Given the description of an element on the screen output the (x, y) to click on. 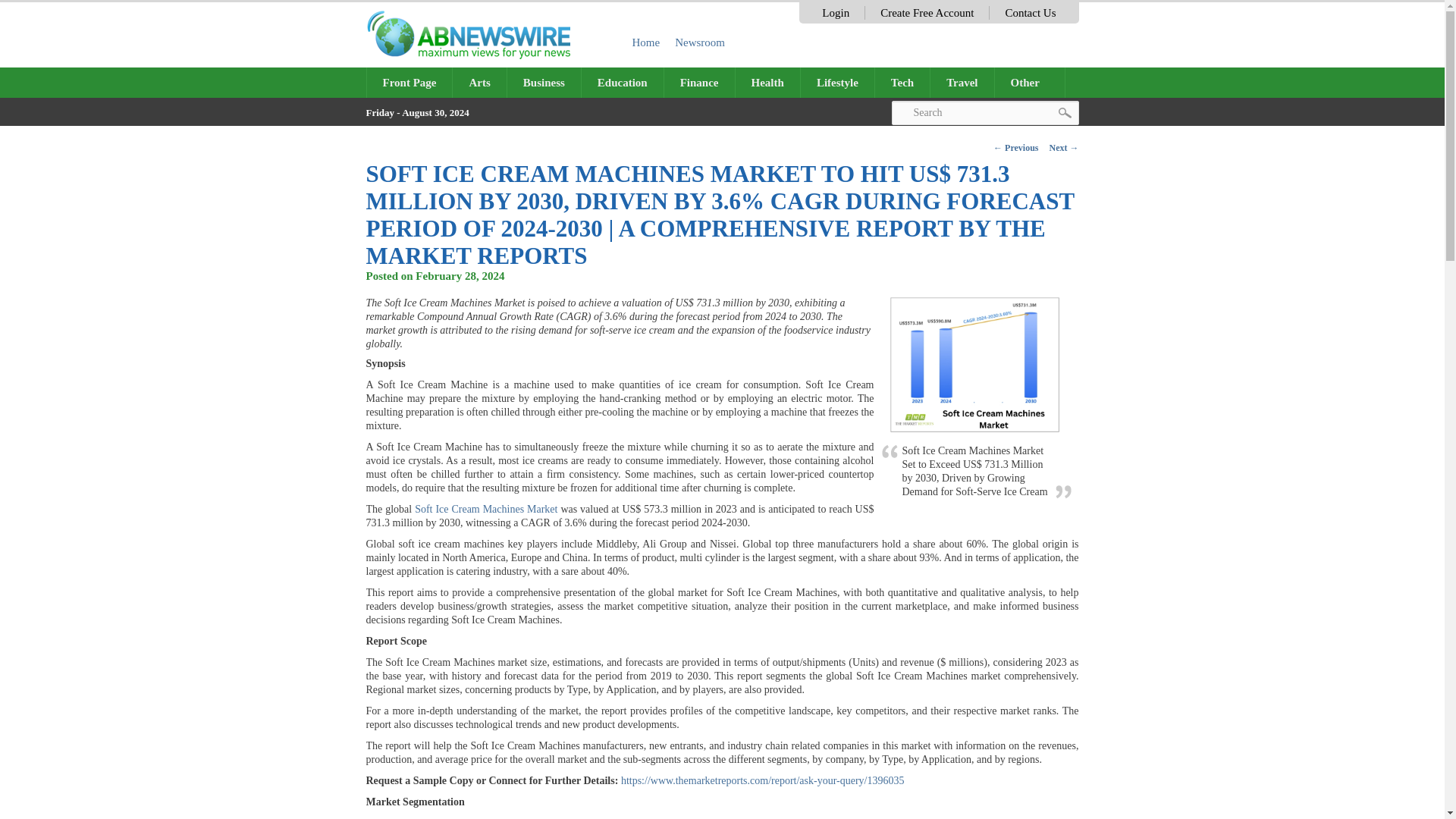
Newsroom (700, 42)
Contact Us (1030, 12)
Home (646, 42)
Travel (961, 82)
Education (622, 82)
Create Free Account (926, 12)
Business (544, 82)
Search (984, 112)
Finance (698, 82)
Lifestyle (836, 82)
